Given the description of an element on the screen output the (x, y) to click on. 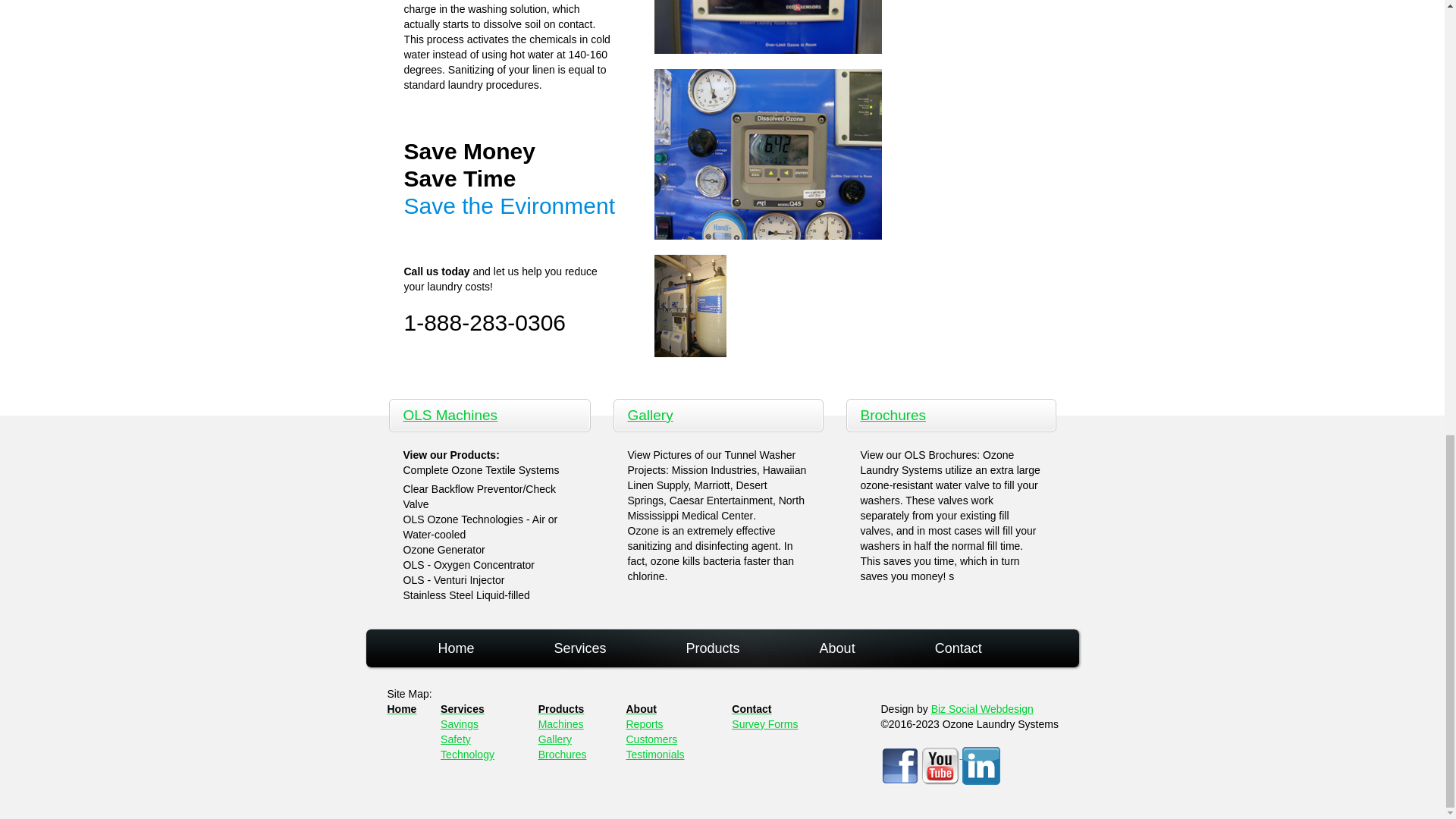
Services (580, 648)
Gallery (649, 415)
Reports (644, 724)
About (837, 648)
OLS Machines (450, 415)
Services (462, 708)
About (641, 708)
Customers (652, 739)
Contact (751, 708)
Savings (460, 724)
Testimonials (655, 754)
Machines (560, 724)
Safety (455, 739)
Brochures (562, 754)
Brochures (893, 415)
